Given the description of an element on the screen output the (x, y) to click on. 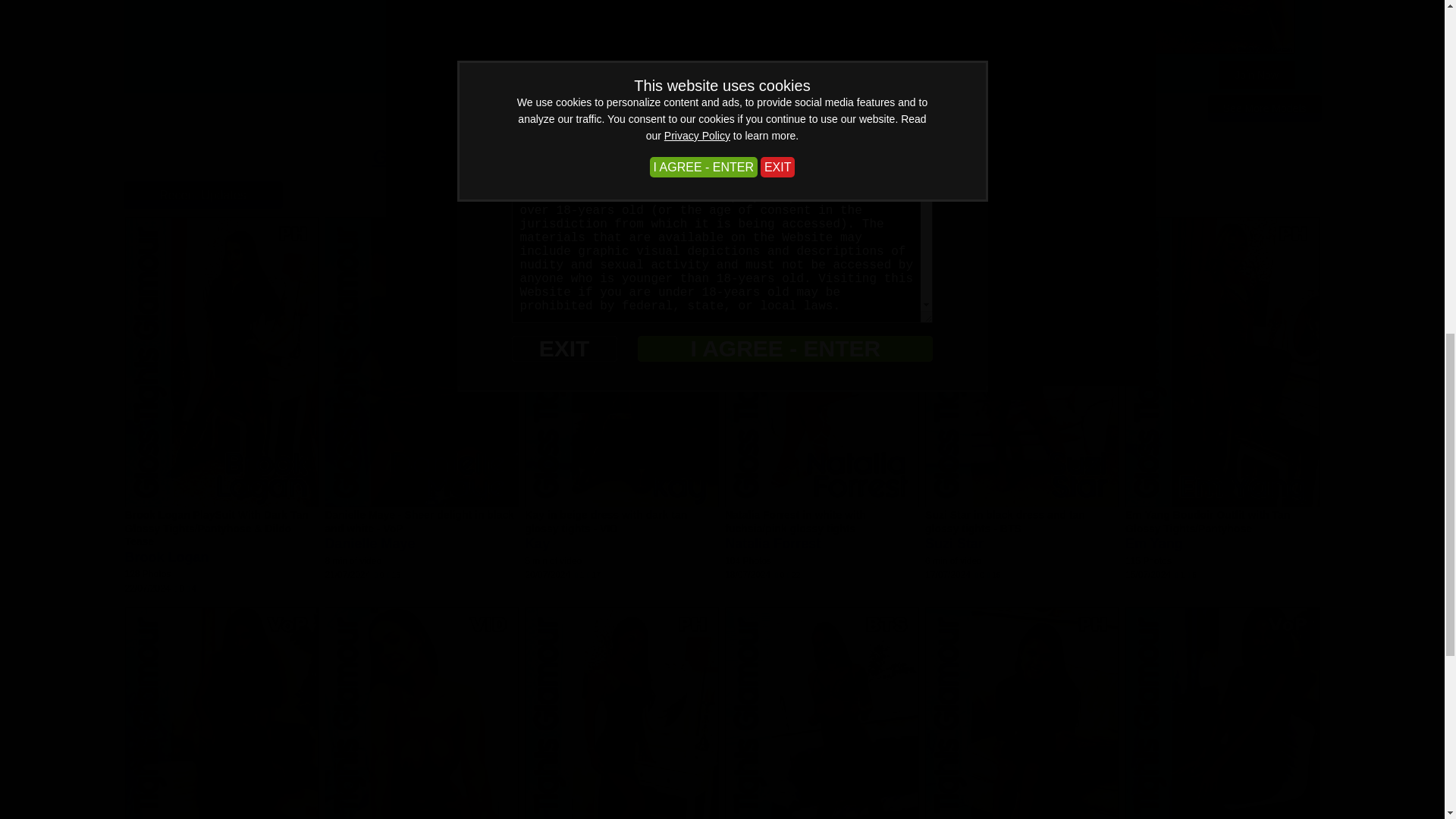
Brook Logan (165, 556)
Kay (537, 543)
Danielle Maye (369, 543)
Kay in beige dress with dark tan glossy tights - VID (605, 521)
Danielle Maye - Sheer delight in black and white - VoP (418, 521)
See More Models (1265, 108)
